Given the description of an element on the screen output the (x, y) to click on. 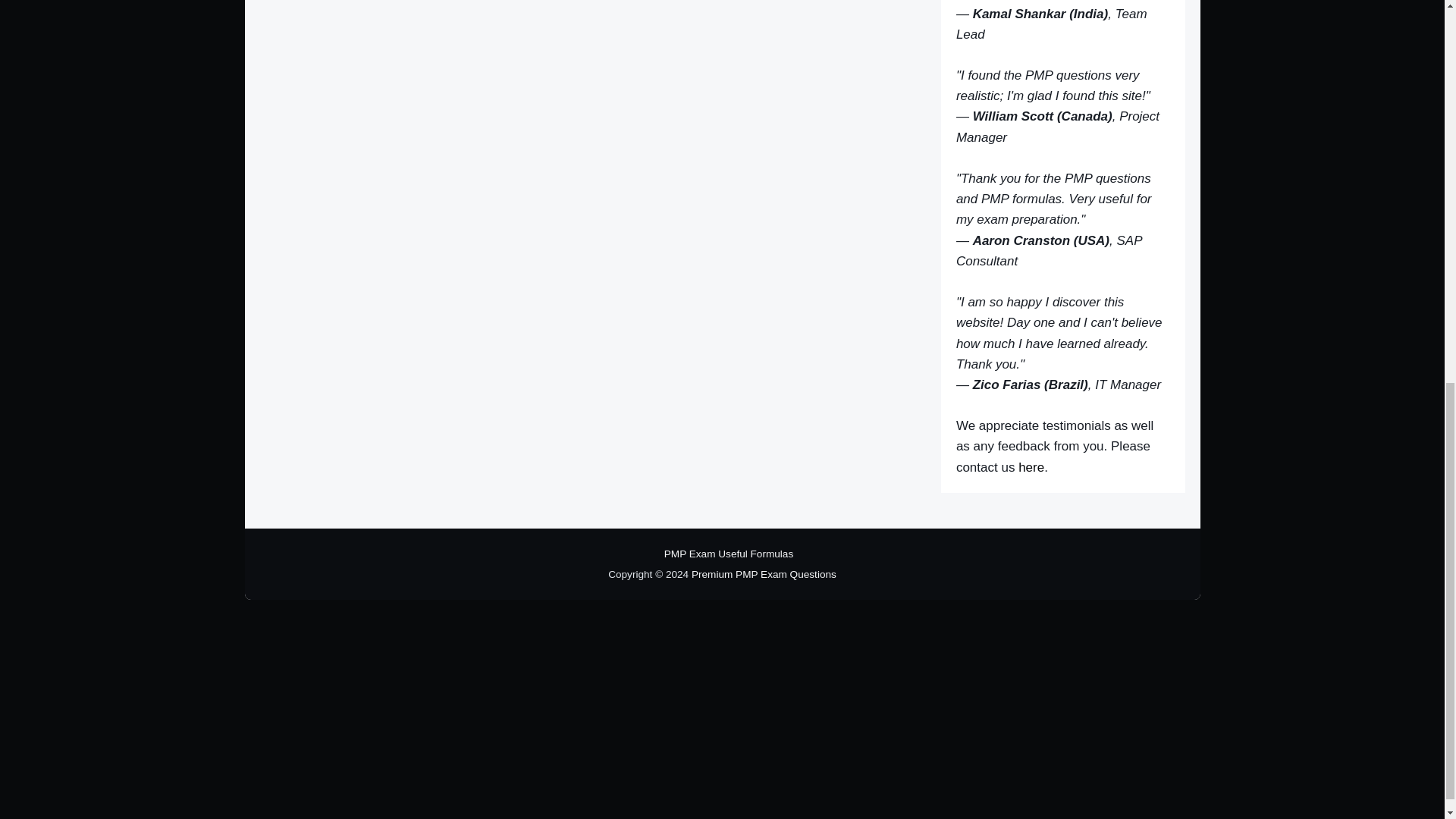
Advertisement (593, 73)
here (1030, 467)
PMP Exam Useful Formulas (728, 553)
Premium PMP Exam Questions (763, 573)
